Given the description of an element on the screen output the (x, y) to click on. 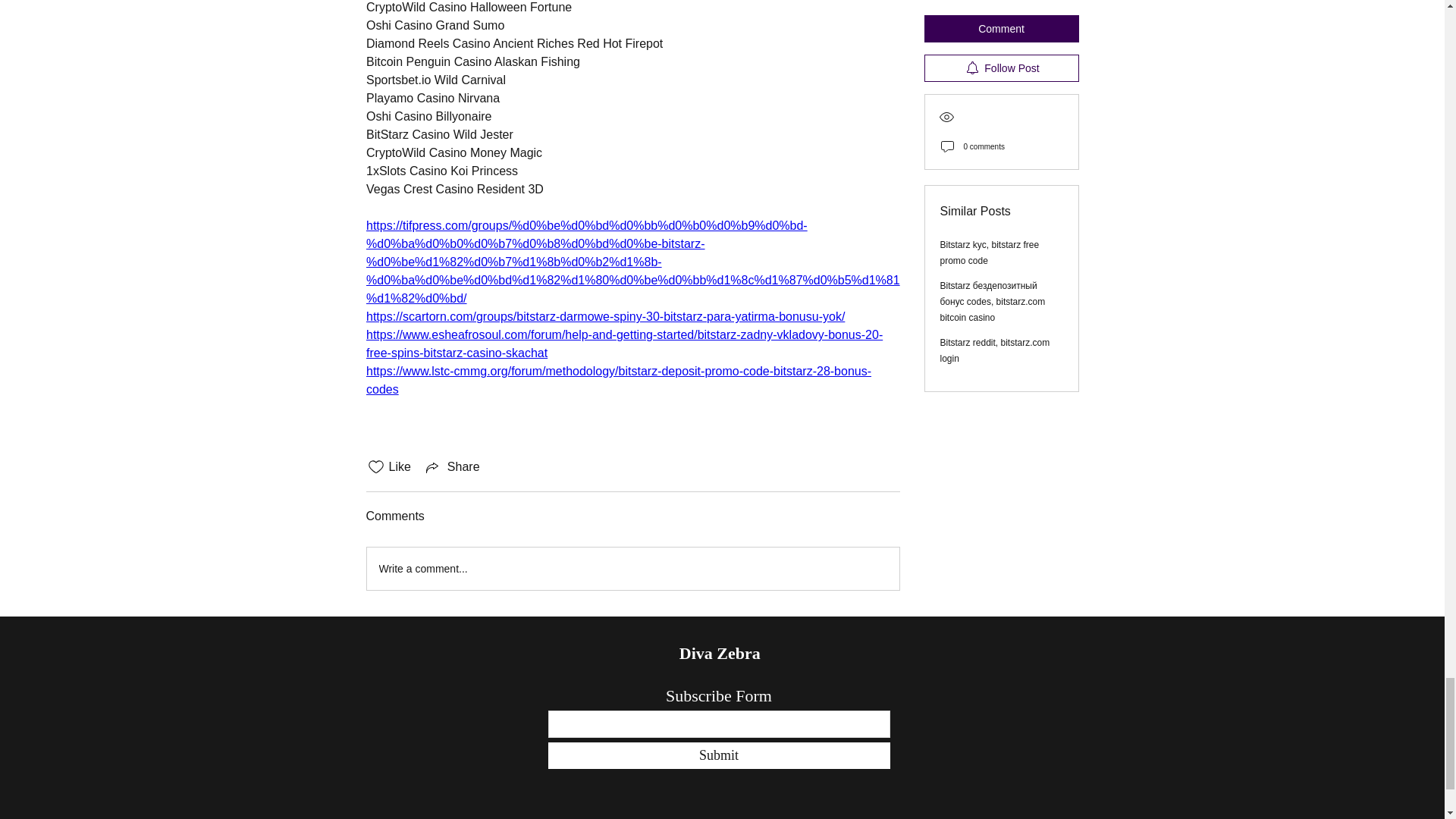
Share (451, 466)
Diva Zebra  (721, 652)
Submit (718, 755)
Write a comment... (632, 568)
